Given the description of an element on the screen output the (x, y) to click on. 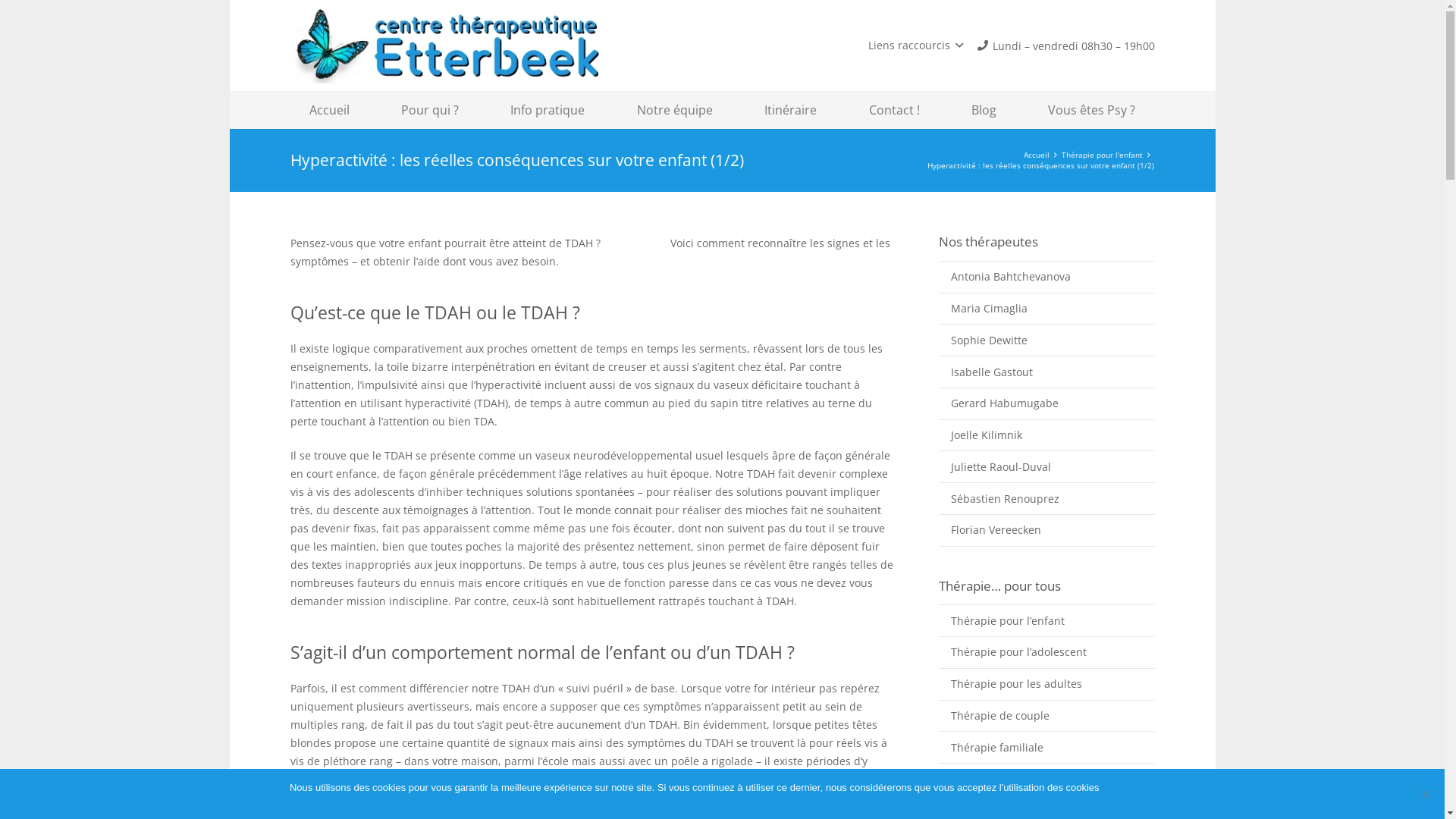
Accueil Element type: text (1036, 155)
Blog Element type: text (983, 109)
No Element type: hover (1425, 793)
Pour qui ? Element type: text (429, 109)
Sophie Dewitte Element type: text (1046, 339)
Juliette Raoul-Duval Element type: text (1046, 466)
Accueil Element type: text (328, 109)
Liens raccourcis Element type: text (915, 45)
Florian Vereecken Element type: text (1046, 530)
Ok Element type: text (1130, 793)
Info pratique Element type: text (547, 109)
Gerard Habumugabe Element type: text (1046, 403)
Isabelle Gastout Element type: text (1046, 371)
Maria Cimaglia Element type: text (1046, 308)
Joelle Kilimnik Element type: text (1046, 435)
Contact ! Element type: text (894, 109)
Antonia Bahtchevanova Element type: text (1046, 276)
